Given the description of an element on the screen output the (x, y) to click on. 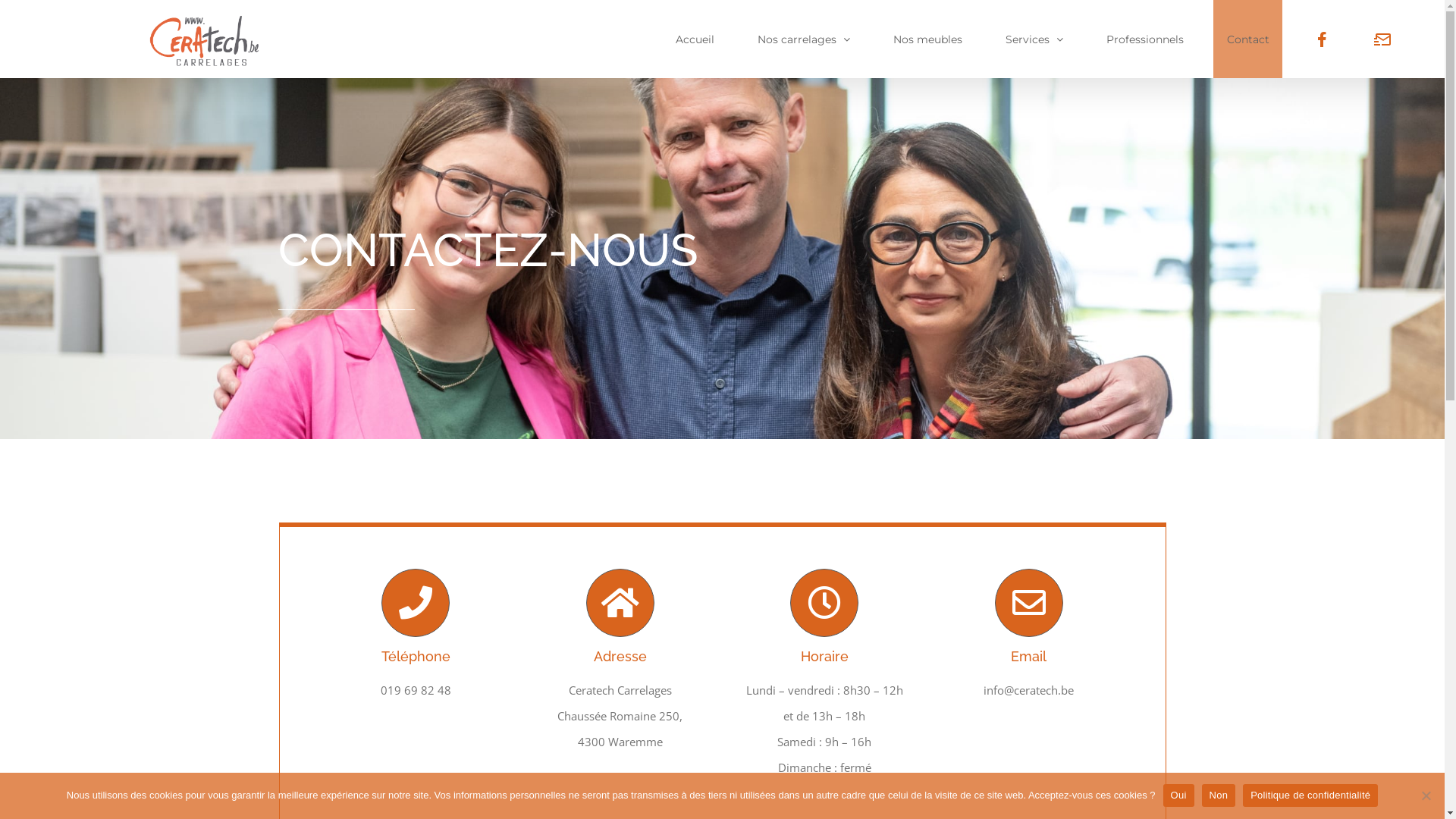
Non Element type: text (1218, 795)
Contact Element type: text (1247, 39)
Nos meubles Element type: text (927, 39)
Non Element type: hover (1425, 795)
Nos carrelages Element type: text (802, 39)
Professionnels Element type: text (1144, 39)
Oui Element type: text (1178, 795)
Services Element type: text (1033, 39)
Accueil Element type: text (694, 39)
